Given the description of an element on the screen output the (x, y) to click on. 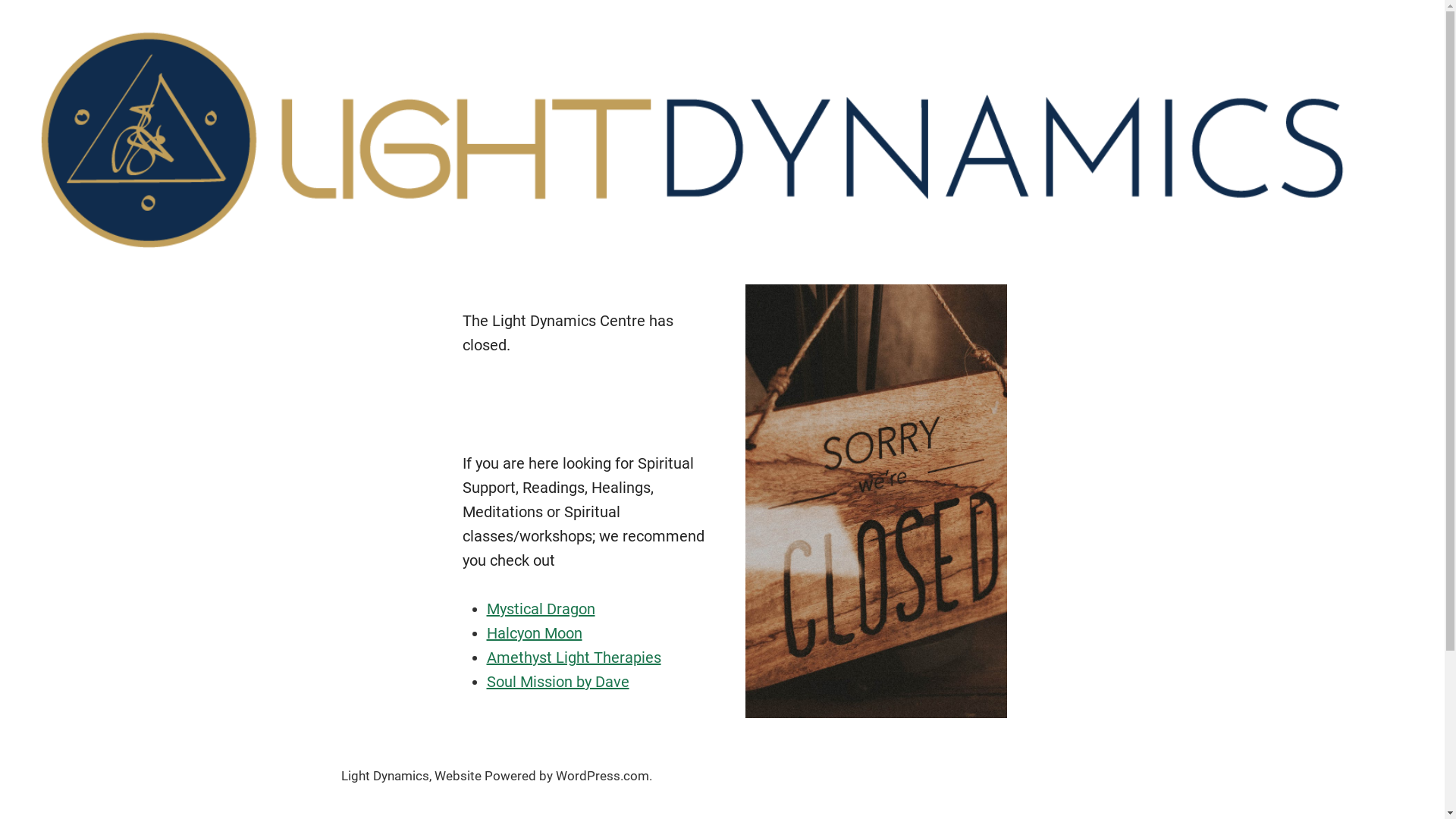
Website Powered by WordPress.com Element type: text (540, 775)
Soul Mission by Dave Element type: text (557, 681)
Amethyst Light Therapies Element type: text (573, 657)
Mystical Dragon Element type: text (540, 608)
Halcyon Moon Element type: text (534, 633)
Light Dynamics Element type: text (385, 775)
